Given the description of an element on the screen output the (x, y) to click on. 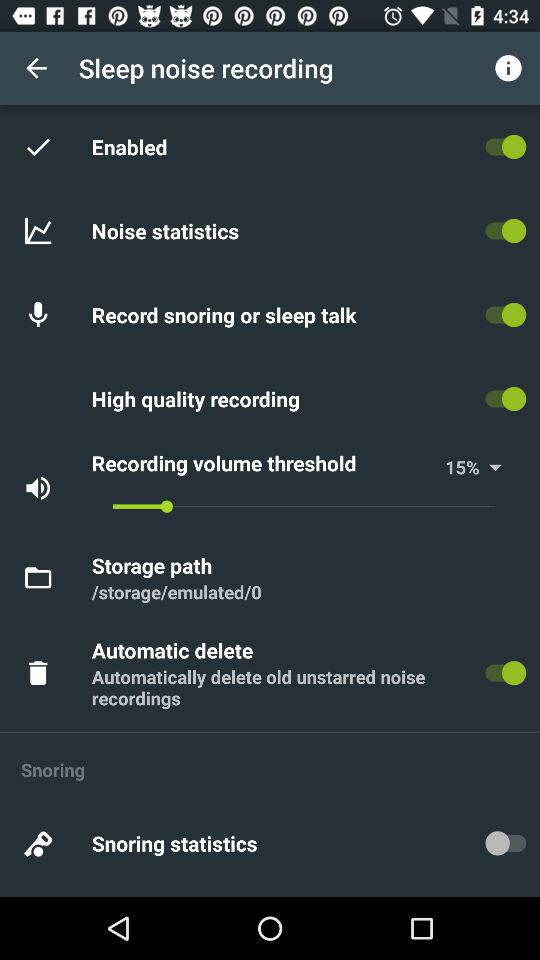
launch noise statistics (168, 230)
